Given the description of an element on the screen output the (x, y) to click on. 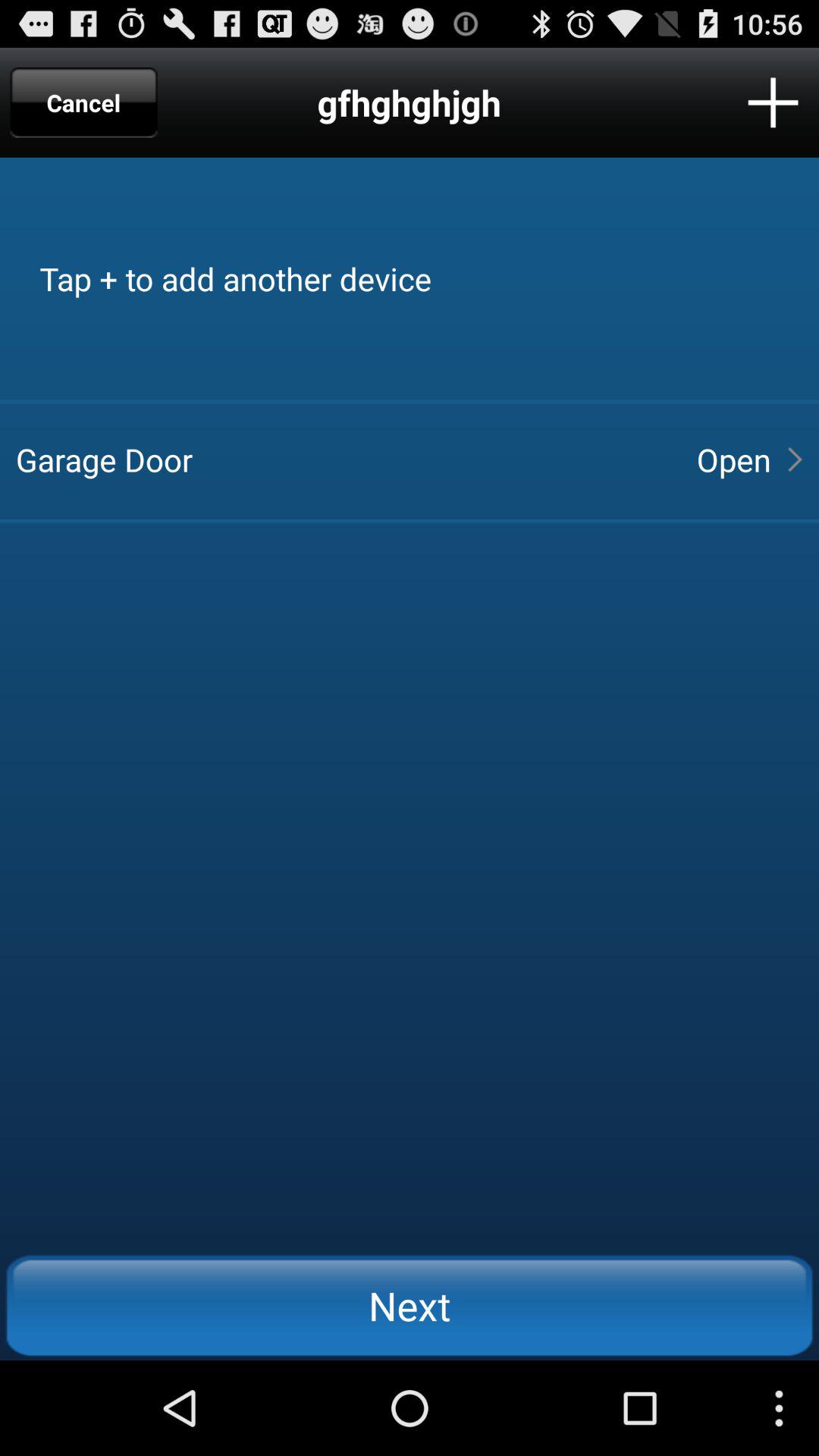
open icon below the garage door item (409, 1305)
